Given the description of an element on the screen output the (x, y) to click on. 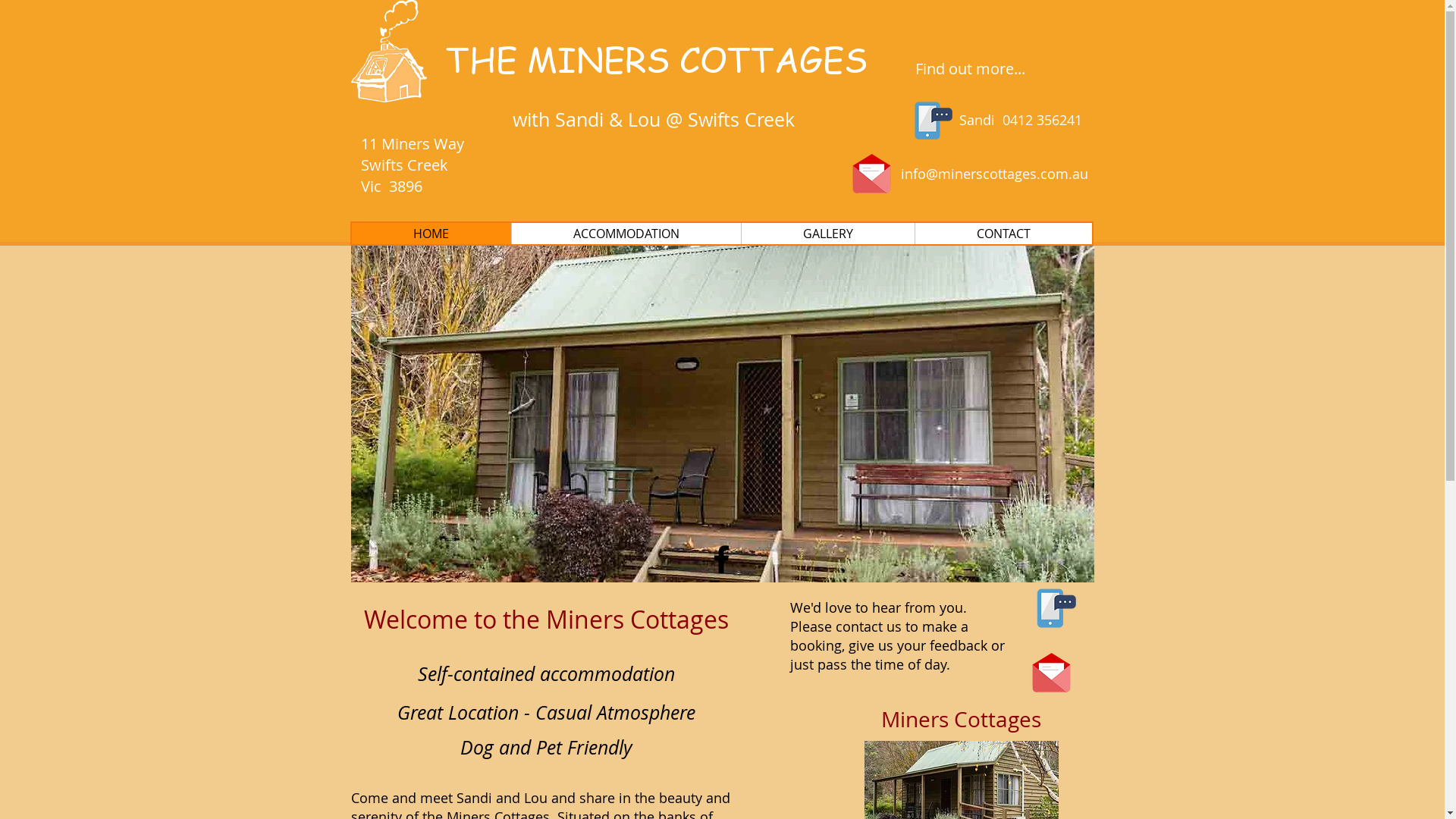
CONTACT Element type: text (1003, 233)
ACCOMMODATION Element type: text (625, 233)
THE MINERS COTTAGES Element type: text (656, 58)
info@minerscottages.com.au Element type: text (994, 173)
HOME Element type: text (431, 233)
GALLERY Element type: text (826, 233)
